Given the description of an element on the screen output the (x, y) to click on. 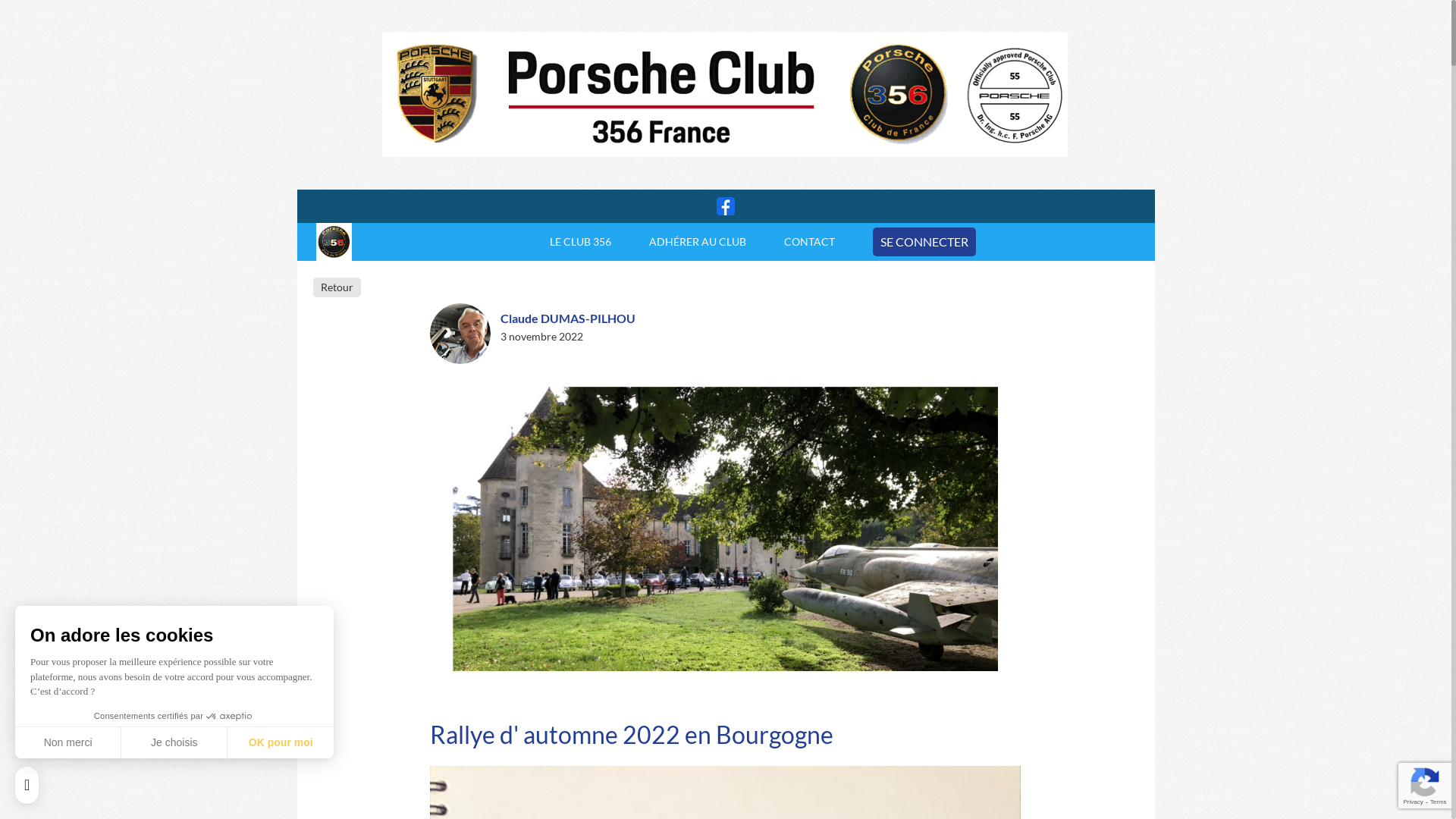
OK pour moi Element type: text (280, 742)
Facebook Element type: hover (725, 206)
LE CLUB 356 Element type: text (580, 241)
Non merci Element type: text (68, 742)
SE CONNECTER Element type: text (923, 241)
Je choisis Element type: text (174, 742)
CONTACT Element type: text (809, 241)
Retour Element type: text (337, 285)
